Given the description of an element on the screen output the (x, y) to click on. 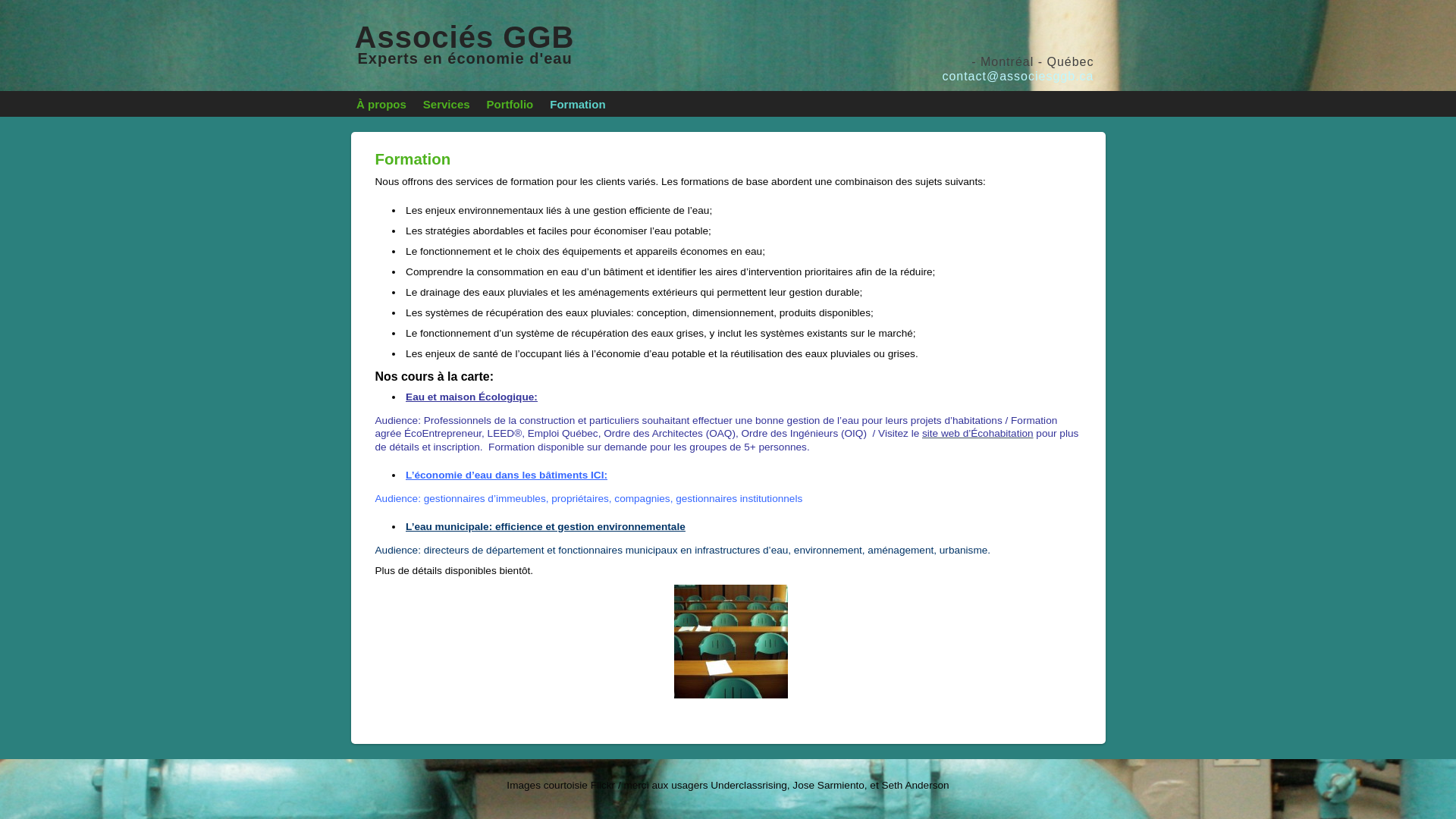
contact@associesggb.ca Element type: text (1017, 75)
Formation Element type: text (577, 105)
Portfolio Element type: text (509, 105)
Services Element type: text (446, 105)
